Given the description of an element on the screen output the (x, y) to click on. 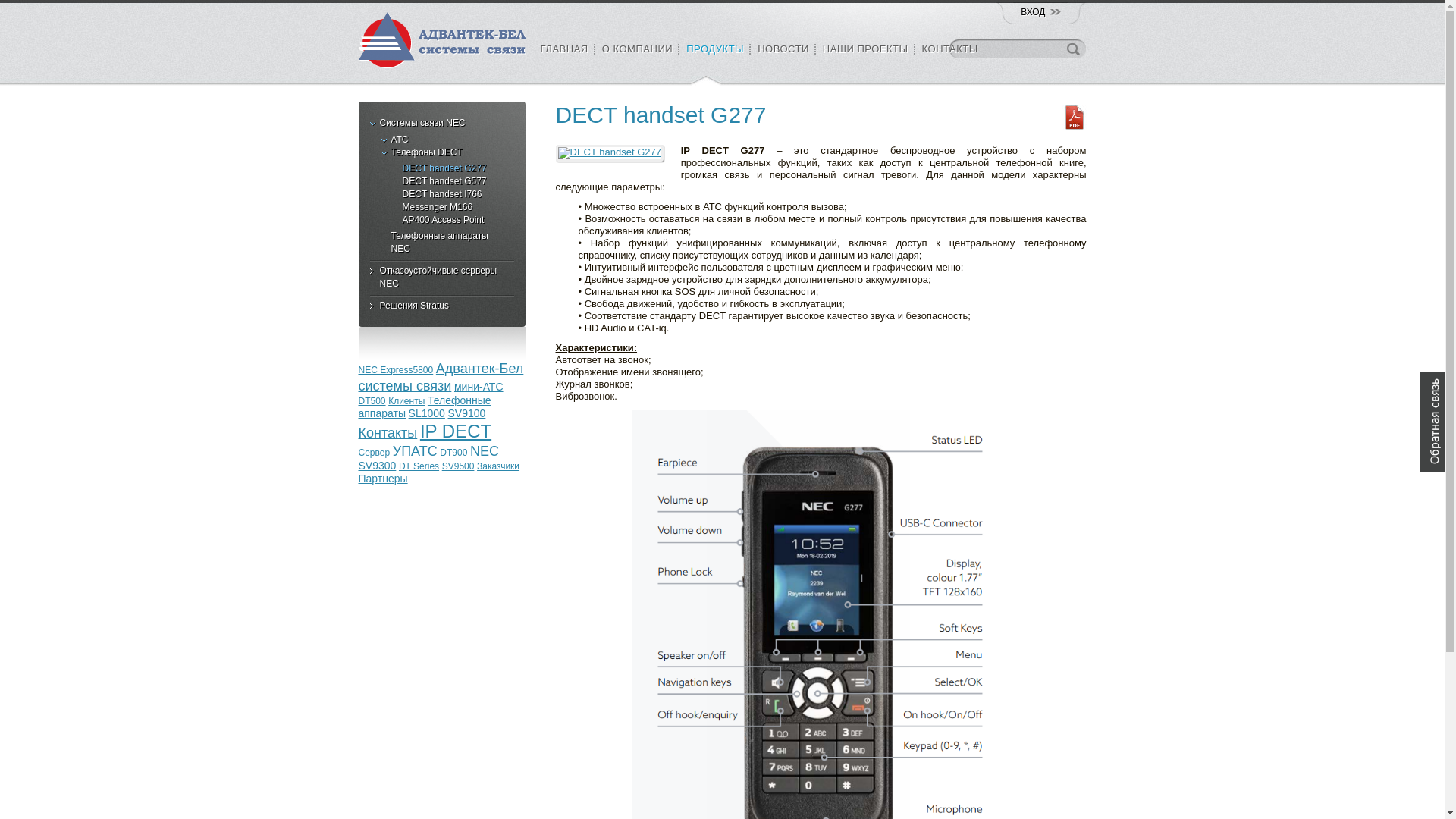
NEC Express5800 Element type: text (395, 369)
DECT handset G277 Element type: hover (609, 153)
DT900 Element type: text (453, 452)
NEC Element type: text (484, 450)
DT500 Element type: text (371, 400)
SL1000 Element type: text (426, 413)
IP DECT Element type: text (455, 430)
SV9300 Element type: text (376, 465)
SV9100 Element type: text (467, 413)
DT Series Element type: text (418, 466)
DECT handset G277 Element type: text (441, 168)
DECT handset G277 Element type: hover (611, 153)
DECT handset I766 Element type: text (441, 194)
Messenger M166 Element type: text (441, 206)
SV9500 Element type: text (458, 466)
AP400 Access Point Element type: text (441, 219)
DECT handset G577 Element type: text (441, 181)
